Given the description of an element on the screen output the (x, y) to click on. 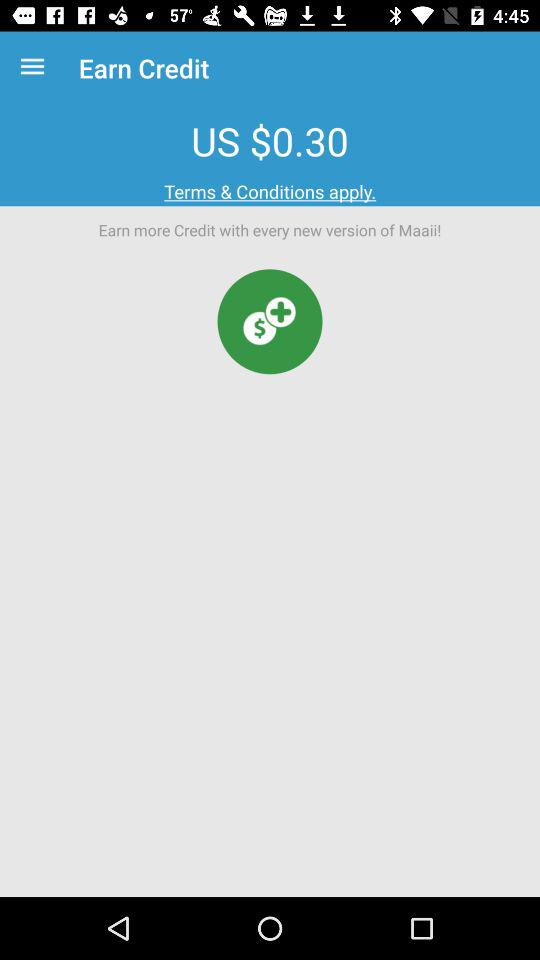
buy credit (269, 321)
